Given the description of an element on the screen output the (x, y) to click on. 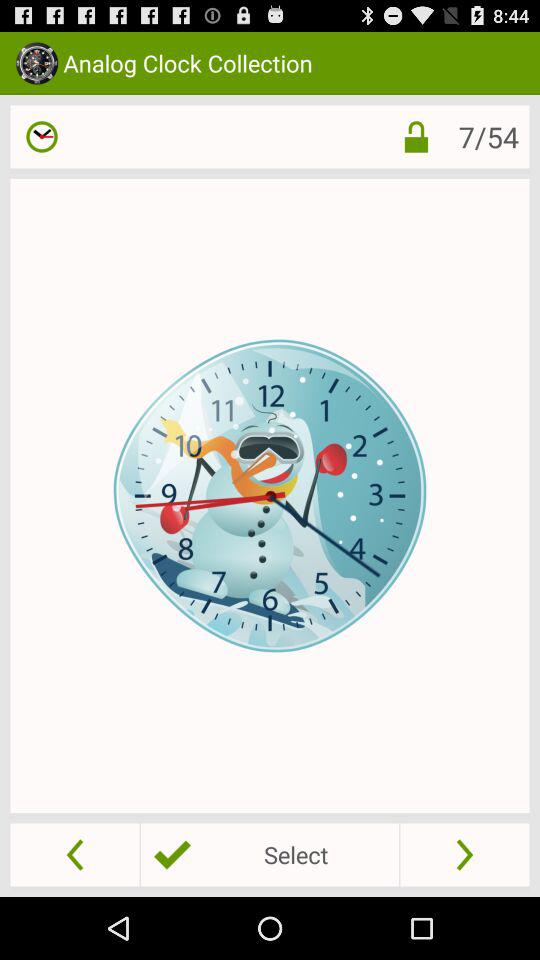
choose the button at the bottom (269, 854)
